Given the description of an element on the screen output the (x, y) to click on. 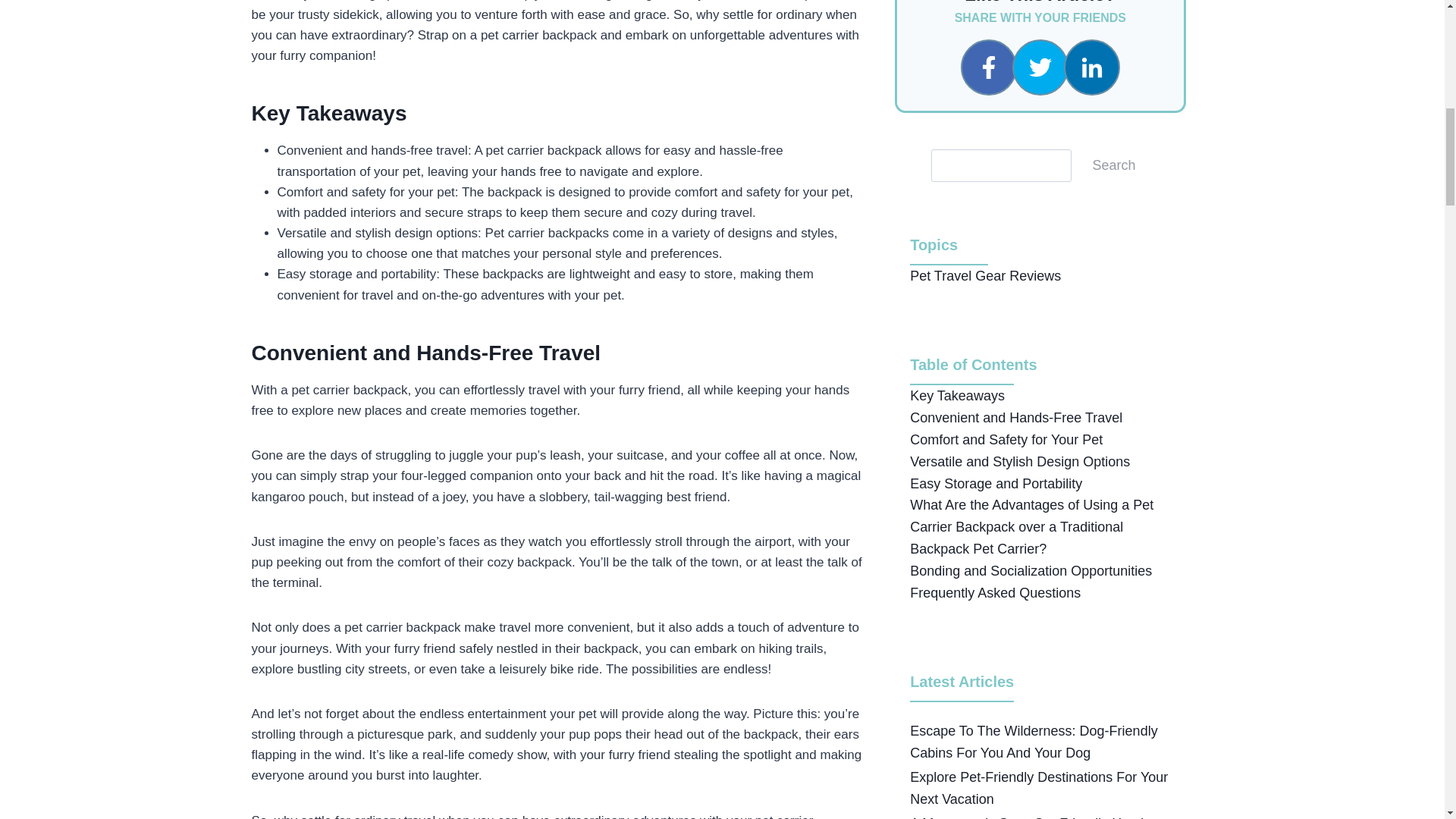
Convenient and Hands-Free Travel (1016, 417)
Search (1114, 164)
Key Takeaways (957, 395)
Versatile and Stylish Design Options (1019, 461)
Comfort and Safety for Your Pet (1006, 439)
Pet Travel Gear Reviews (985, 275)
Bonding and Socialization Opportunities (1030, 570)
Easy Storage and Portability (995, 483)
